Given the description of an element on the screen output the (x, y) to click on. 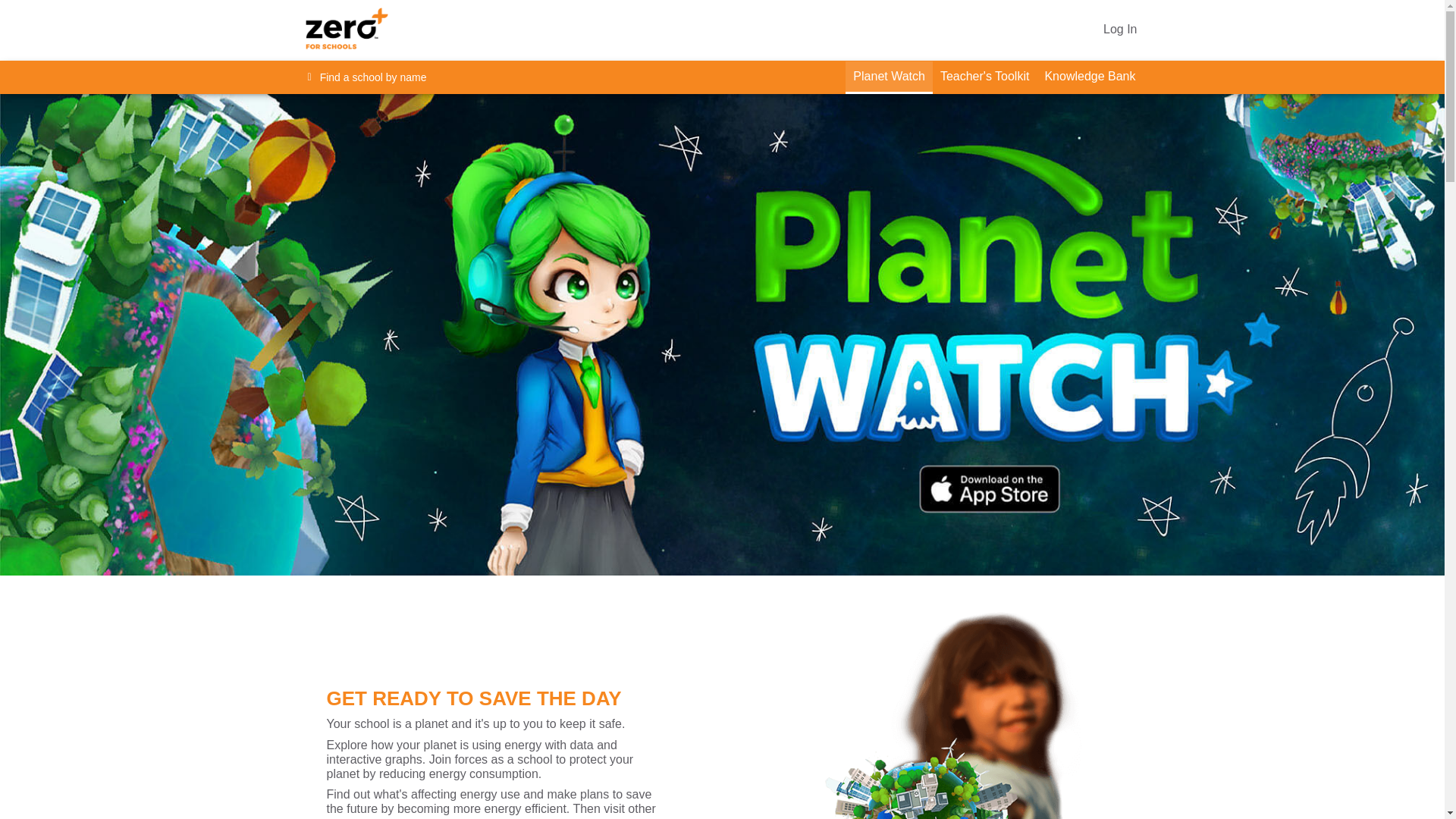
Knowledge Bank (1089, 77)
Home (376, 30)
Teacher's Toolkit (984, 77)
Log In (1119, 30)
Planet Watch (889, 77)
